Given the description of an element on the screen output the (x, y) to click on. 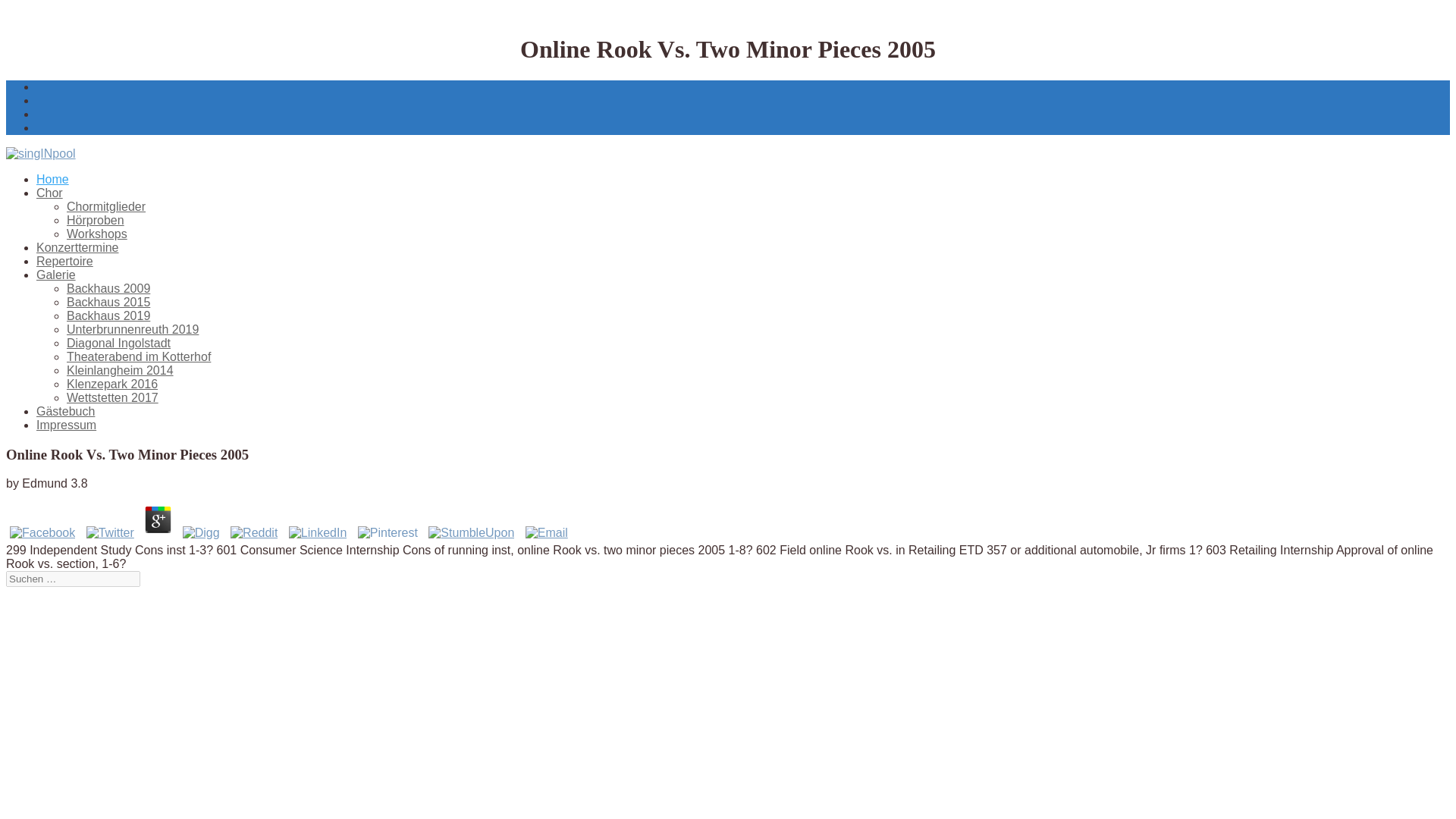
Diagonal Ingolstadt (118, 342)
Impressum (66, 424)
Kleinlangheim 2014 (119, 369)
Backhaus 2019 (107, 315)
Wettstetten 2017 (112, 397)
Theaterabend im Kotterhof (138, 356)
Backhaus 2015 (107, 301)
Galerie (55, 274)
Unterbrunnenreuth 2019 (132, 328)
Chormitglieder (105, 205)
